Given the description of an element on the screen output the (x, y) to click on. 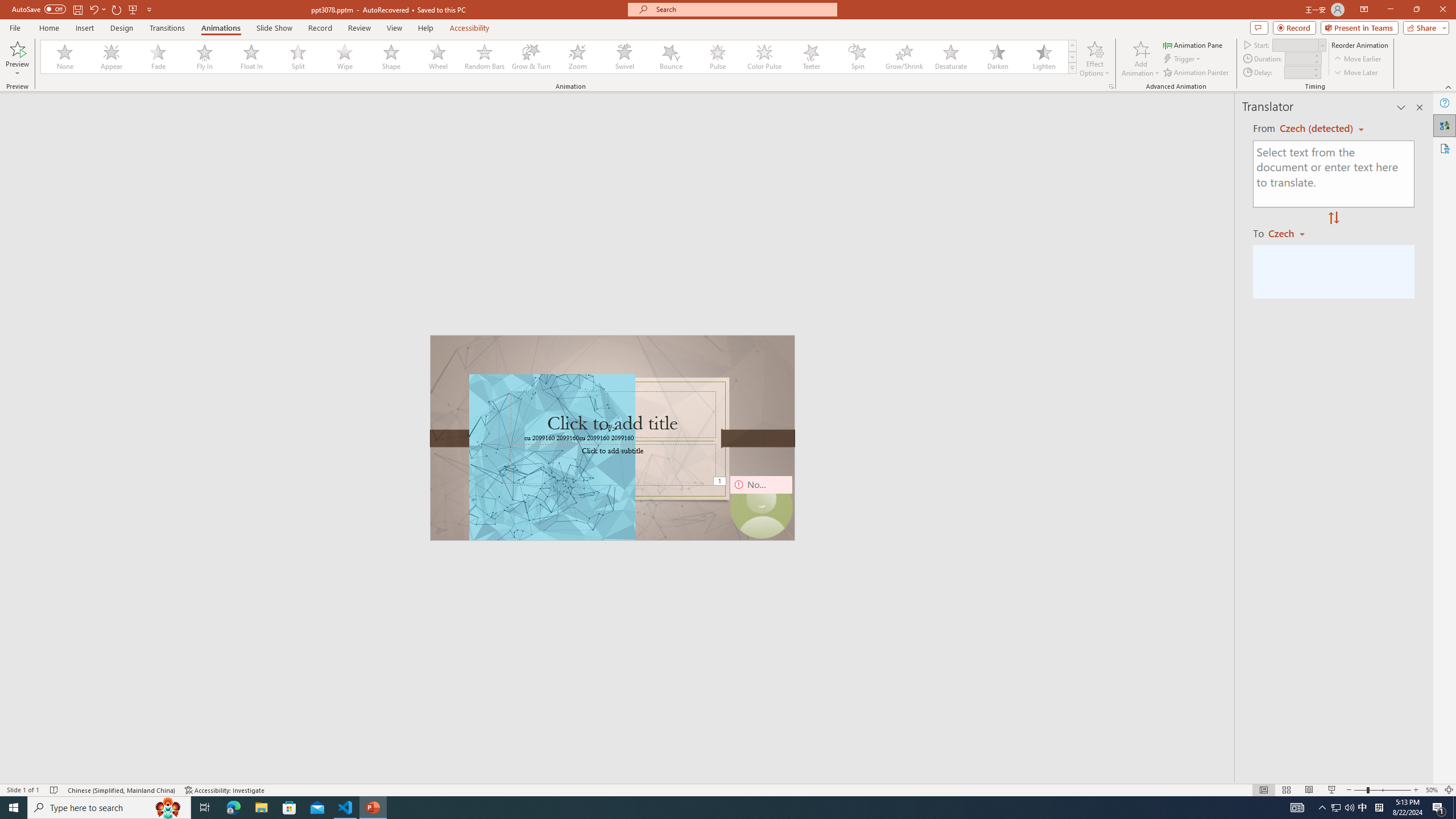
Desaturate (950, 56)
Swap "from" and "to" languages. (1333, 218)
Appear (111, 56)
Title TextBox (613, 414)
More Options... (1110, 85)
Color Pulse (764, 56)
Zoom 50% (1431, 790)
